Given the description of an element on the screen output the (x, y) to click on. 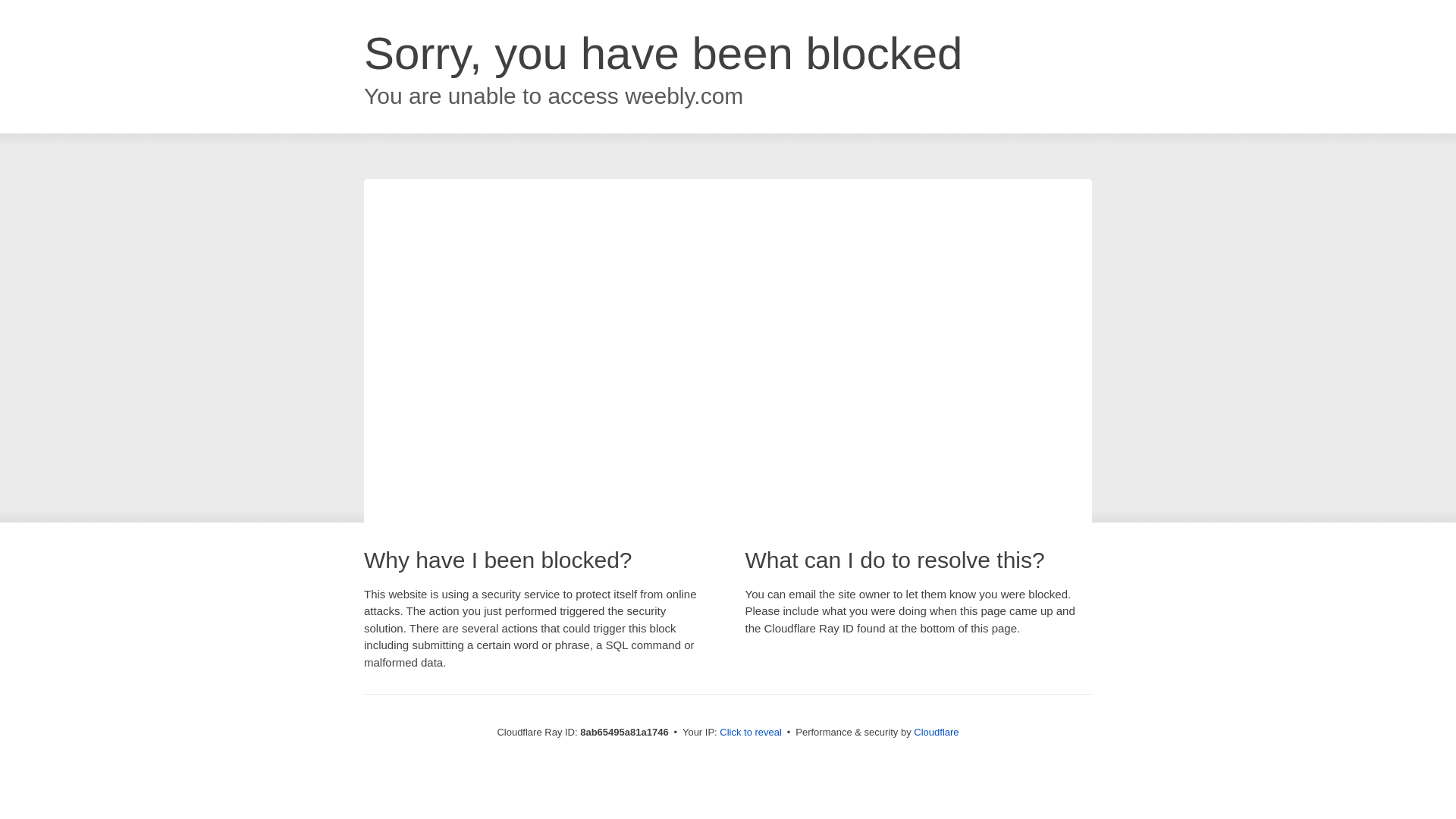
Cloudflare (936, 731)
Click to reveal (750, 732)
